Given the description of an element on the screen output the (x, y) to click on. 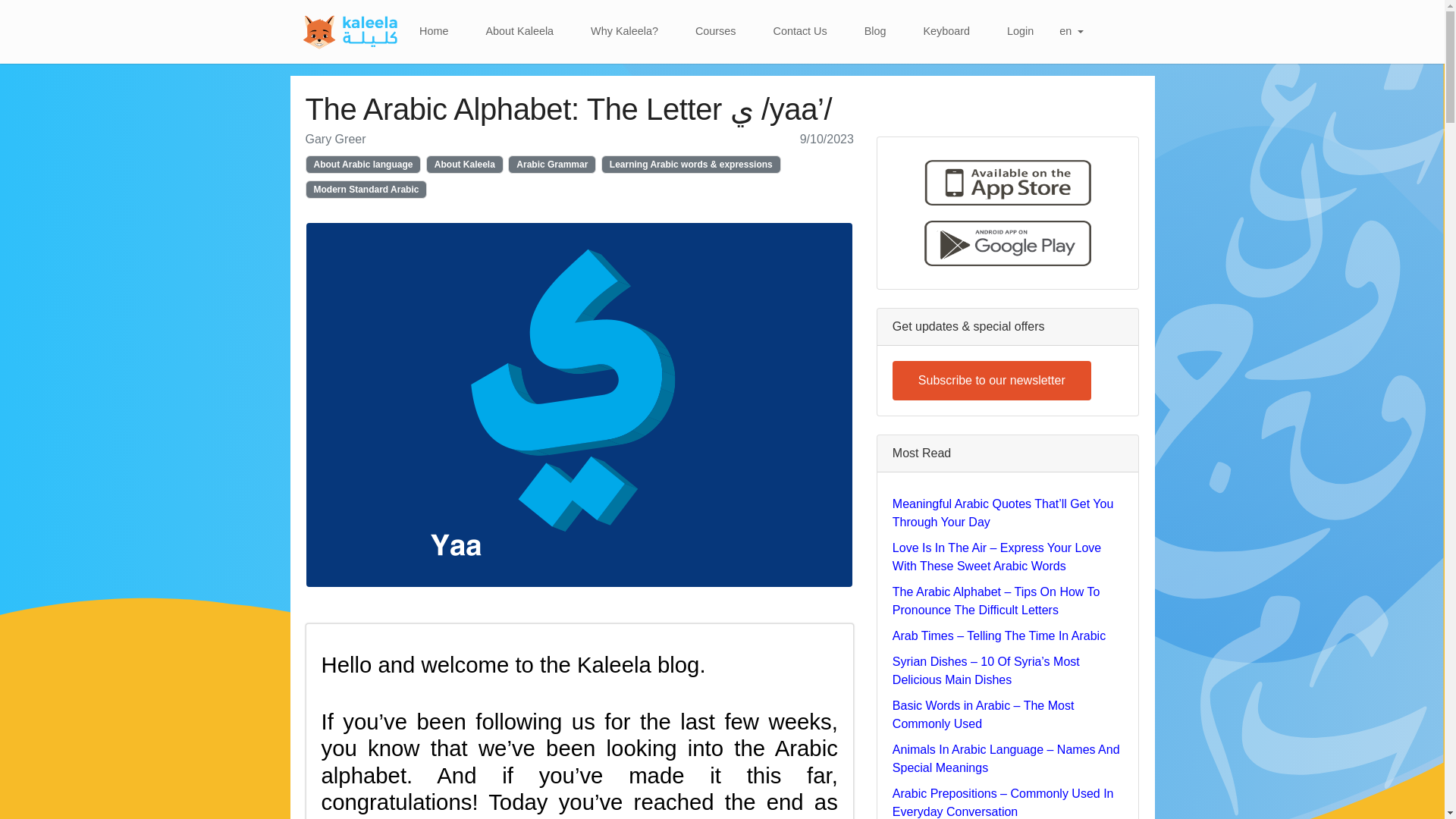
en (1070, 31)
Keyboard (946, 31)
Contact Us (800, 31)
About Arabic language (362, 164)
About Kaleela (519, 31)
Courses (715, 31)
Login (1019, 31)
Home (433, 31)
About Kaleela (464, 164)
Modern Standard Arabic (365, 189)
